Given the description of an element on the screen output the (x, y) to click on. 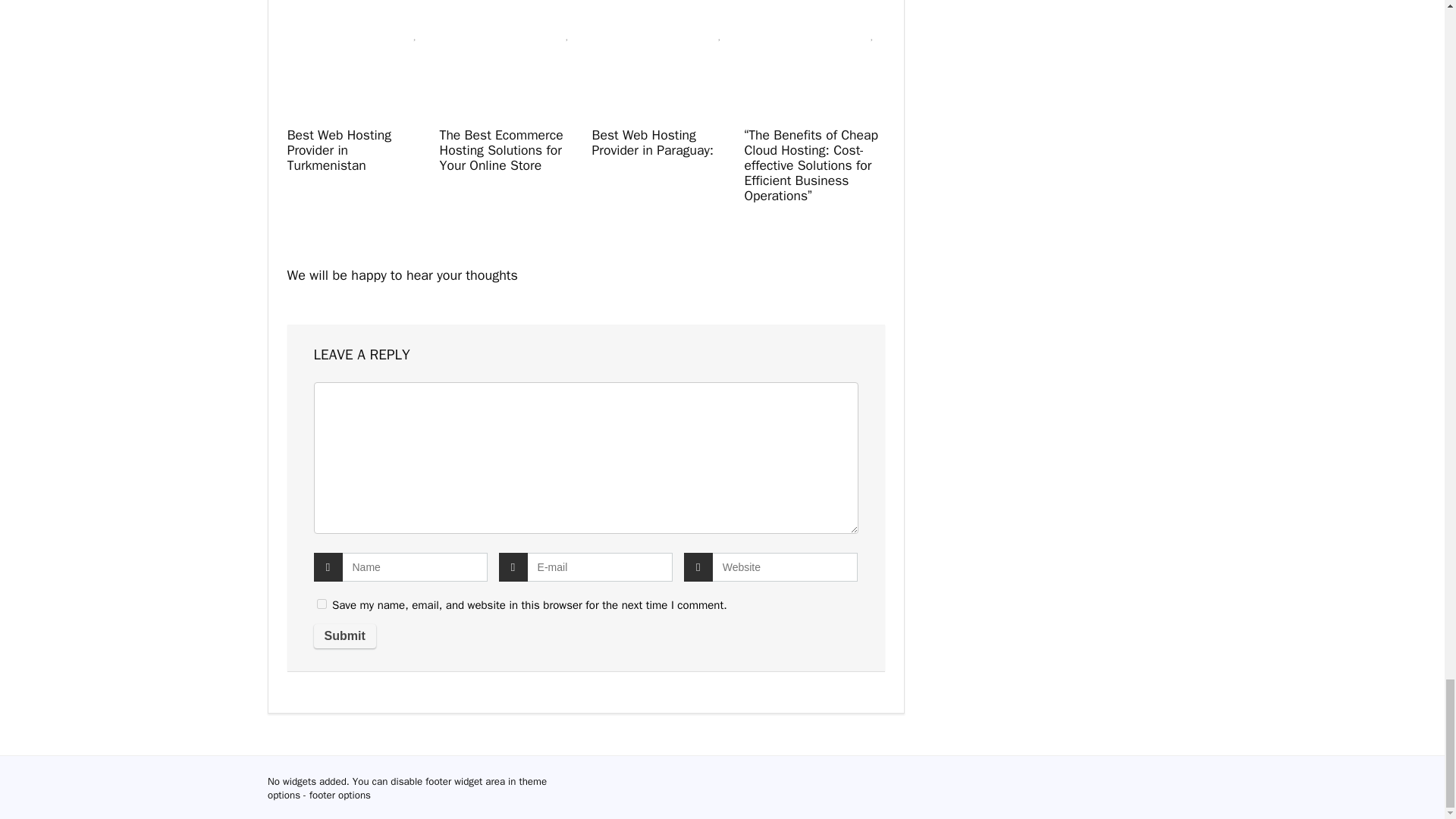
Submit (344, 636)
yes (321, 603)
